Given the description of an element on the screen output the (x, y) to click on. 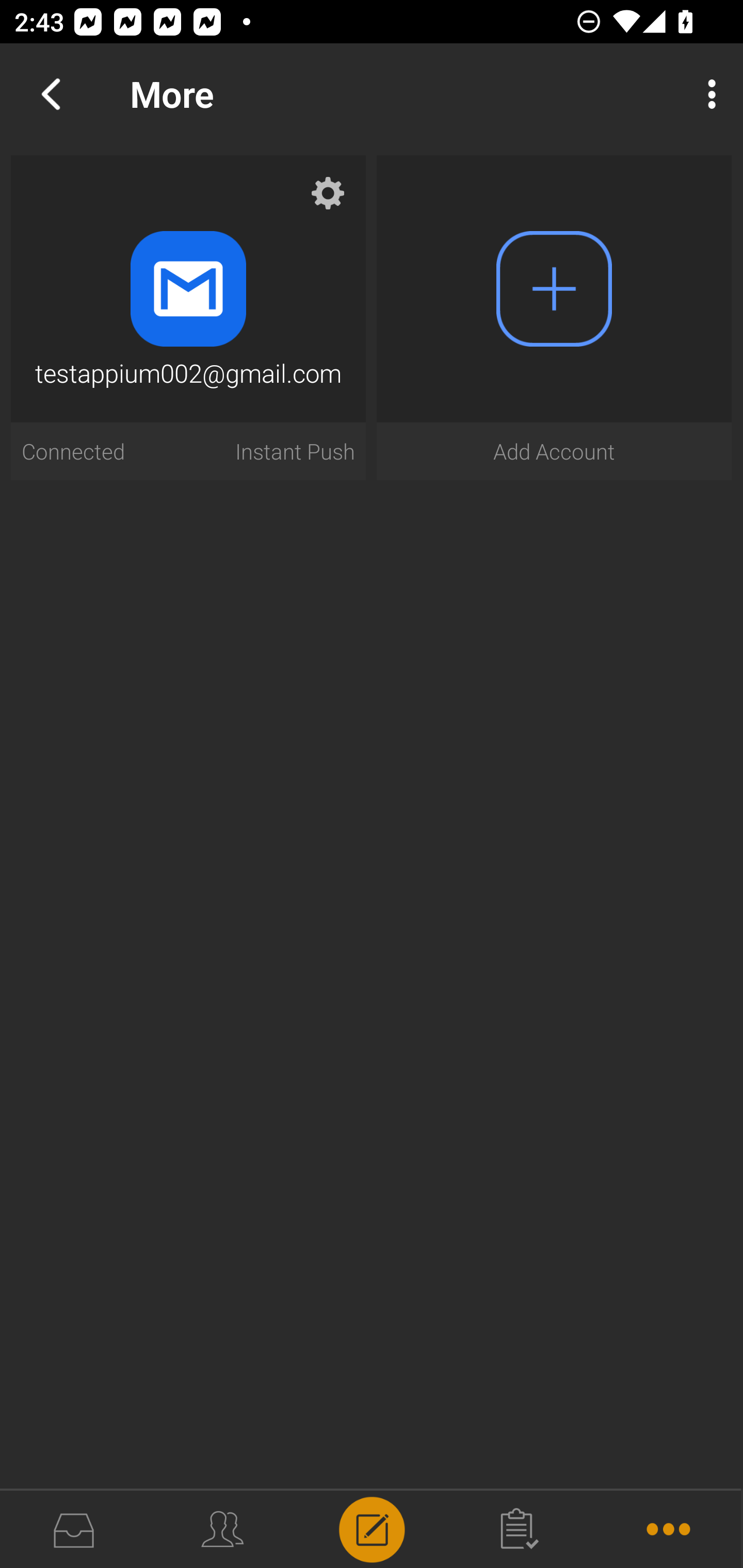
Navigate up (50, 93)
More Options... (706, 93)
testappium002@gmail.com Settings (318, 202)
testappium002@gmail.com Settings (187, 288)
